Given the description of an element on the screen output the (x, y) to click on. 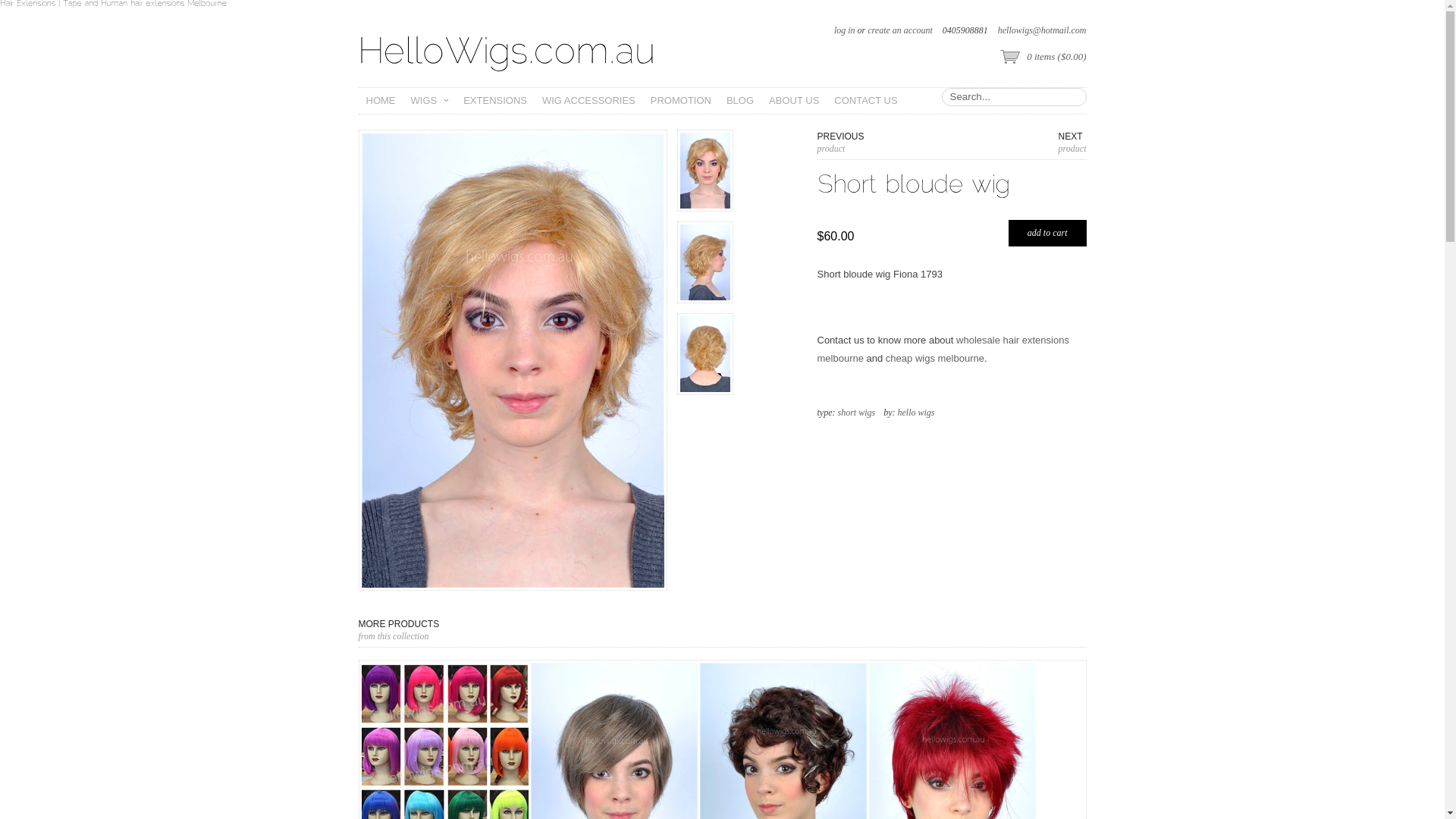
ABOUT US Element type: text (793, 100)
hello wigs Element type: text (916, 412)
PREVIOUS
product Element type: text (840, 142)
short wigs Element type: text (856, 412)
wholesale hair extensions melbourne Element type: text (943, 349)
EXTENSIONS Element type: text (494, 100)
0 items ($0.00) Element type: text (1042, 57)
Add to Cart Element type: text (1047, 232)
CONTACT US Element type: text (865, 100)
create an account Element type: text (899, 30)
hellowigs@hotmail.com Element type: text (1041, 30)
log in Element type: text (844, 30)
cheap wigs melbourne Element type: text (934, 358)
PROMOTION Element type: text (680, 100)
WIG ACCESSORIES Element type: text (588, 100)
WIGS Element type: text (427, 100)
BLOG Element type: text (739, 100)
NEXT
product Element type: text (1072, 142)
HOME Element type: text (379, 100)
